Given the description of an element on the screen output the (x, y) to click on. 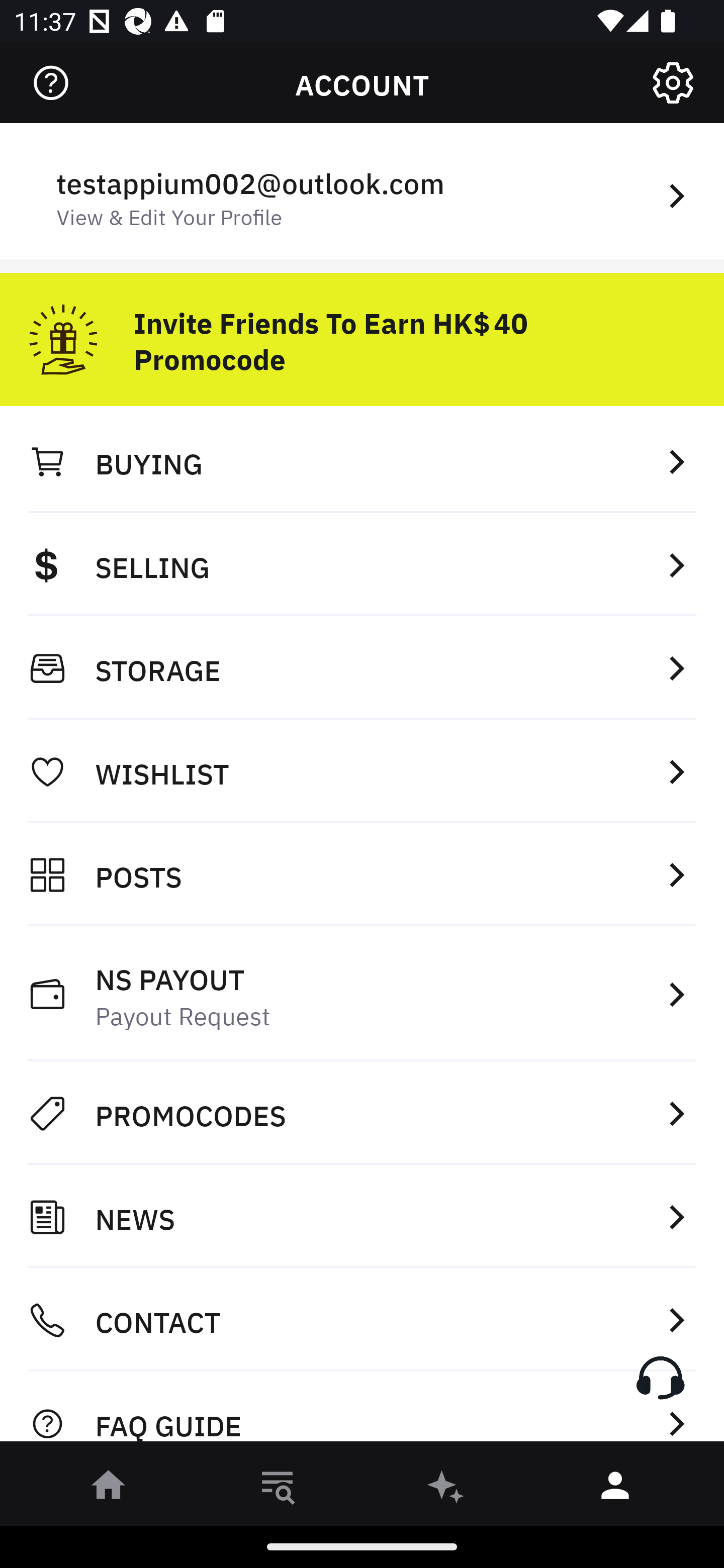
 (50, 83)
 (672, 83)
Invite Friends To Earn HK$ 40 Promocode (362, 332)
 BUYING  (361, 460)
 SELLING  (361, 564)
 STORAGE  (361, 667)
 WISHLIST  (361, 771)
 POSTS  (361, 874)
 0 NS PAYOUT Payout Request  (361, 993)
 PROMOCODES  (361, 1113)
 NEWS  (361, 1216)
 CONTACT  (361, 1320)
 FAQ GUIDE  (361, 1411)
󰋜 (108, 1488)
󱎸 (277, 1488)
󰫢 (446, 1488)
󰀄 (615, 1488)
